Given the description of an element on the screen output the (x, y) to click on. 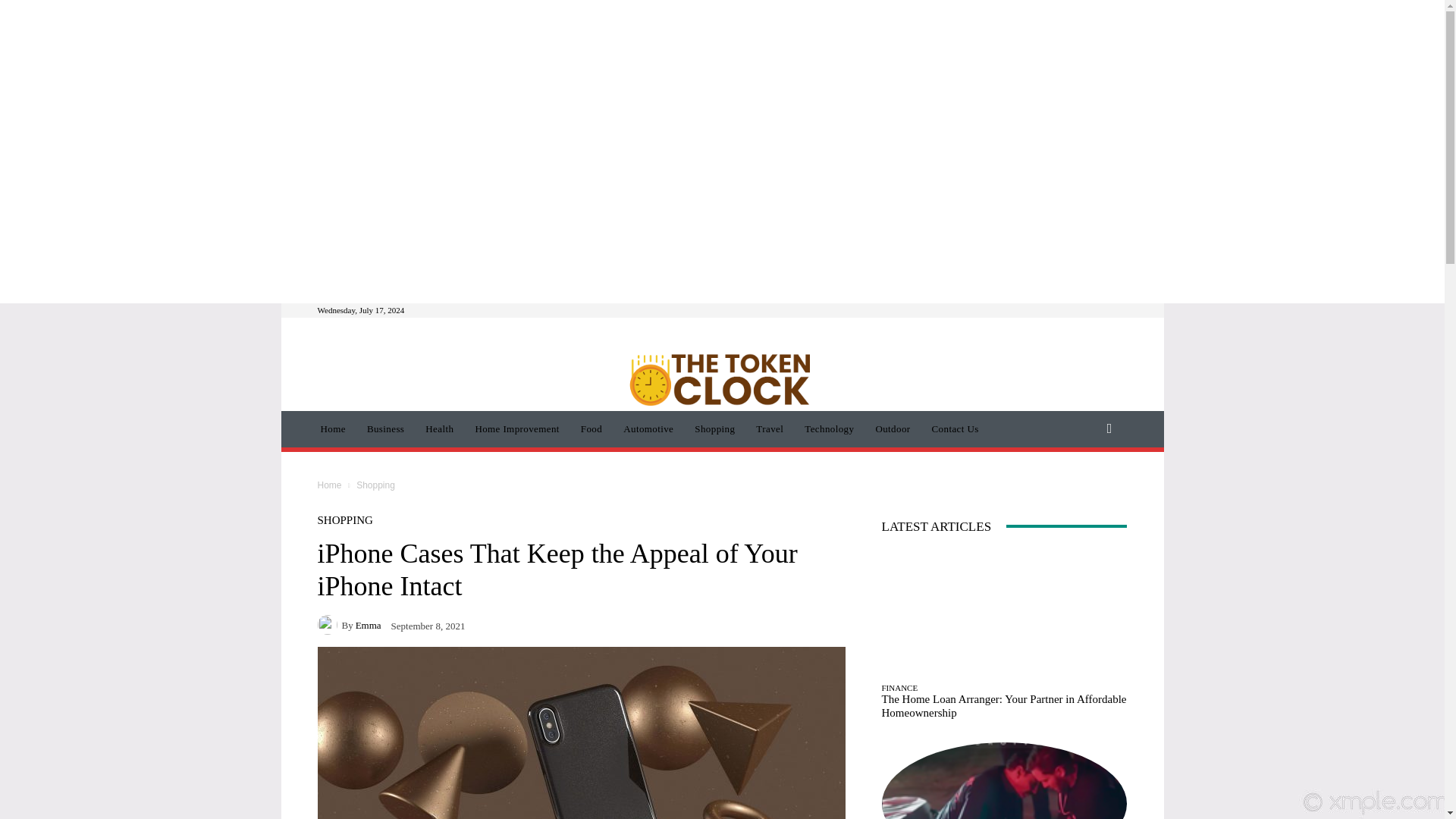
Contact Us (955, 429)
Shopping (714, 429)
View all posts in Shopping (375, 484)
Technology (828, 429)
Home Improvement (516, 429)
Travel (769, 429)
SHOPPING (344, 520)
Outdoor (892, 429)
Health (439, 429)
Home (328, 484)
Automotive (648, 429)
Food (591, 429)
Business (385, 429)
